Given the description of an element on the screen output the (x, y) to click on. 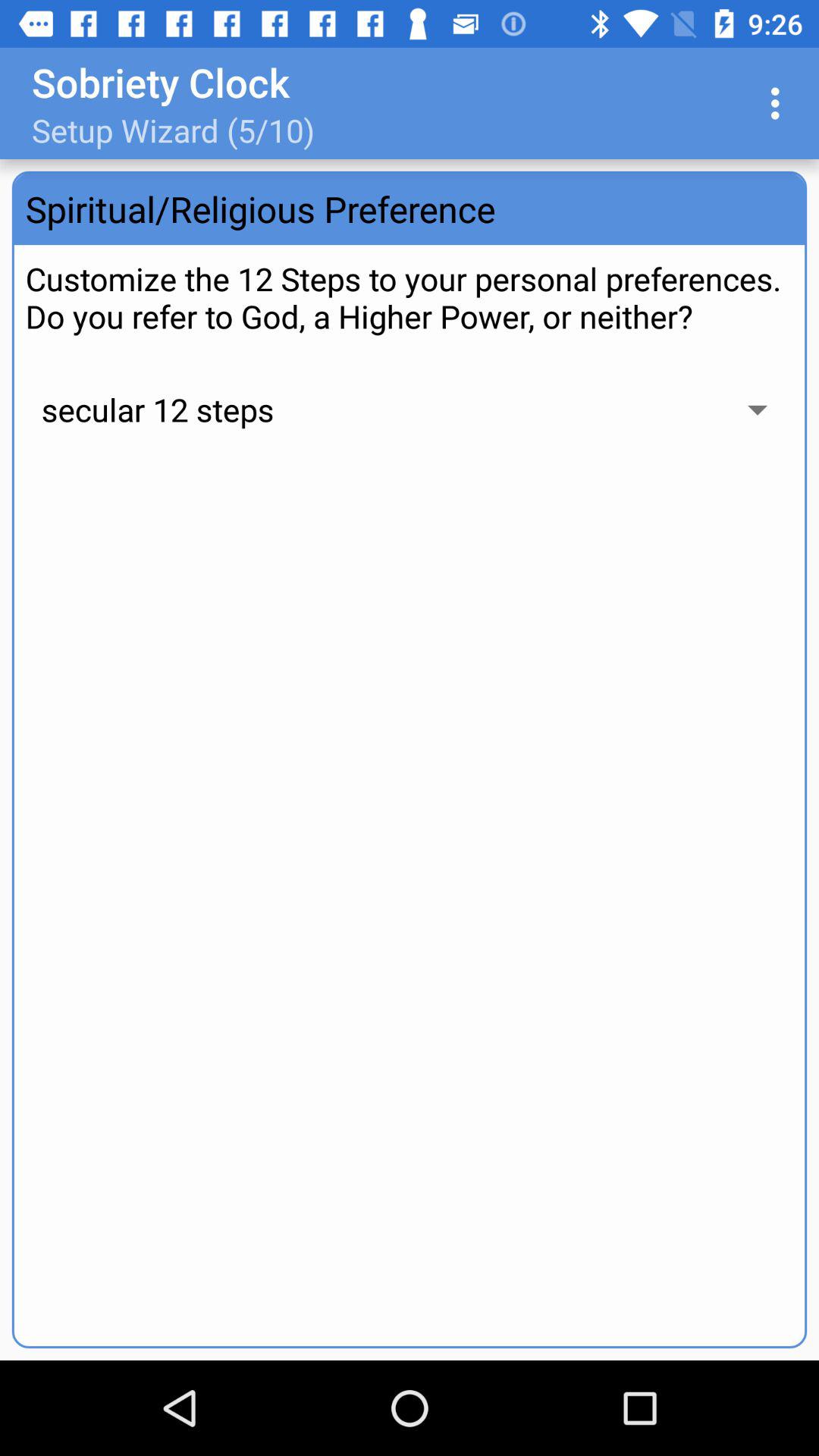
open app next to setup wizard 5 icon (779, 103)
